Given the description of an element on the screen output the (x, y) to click on. 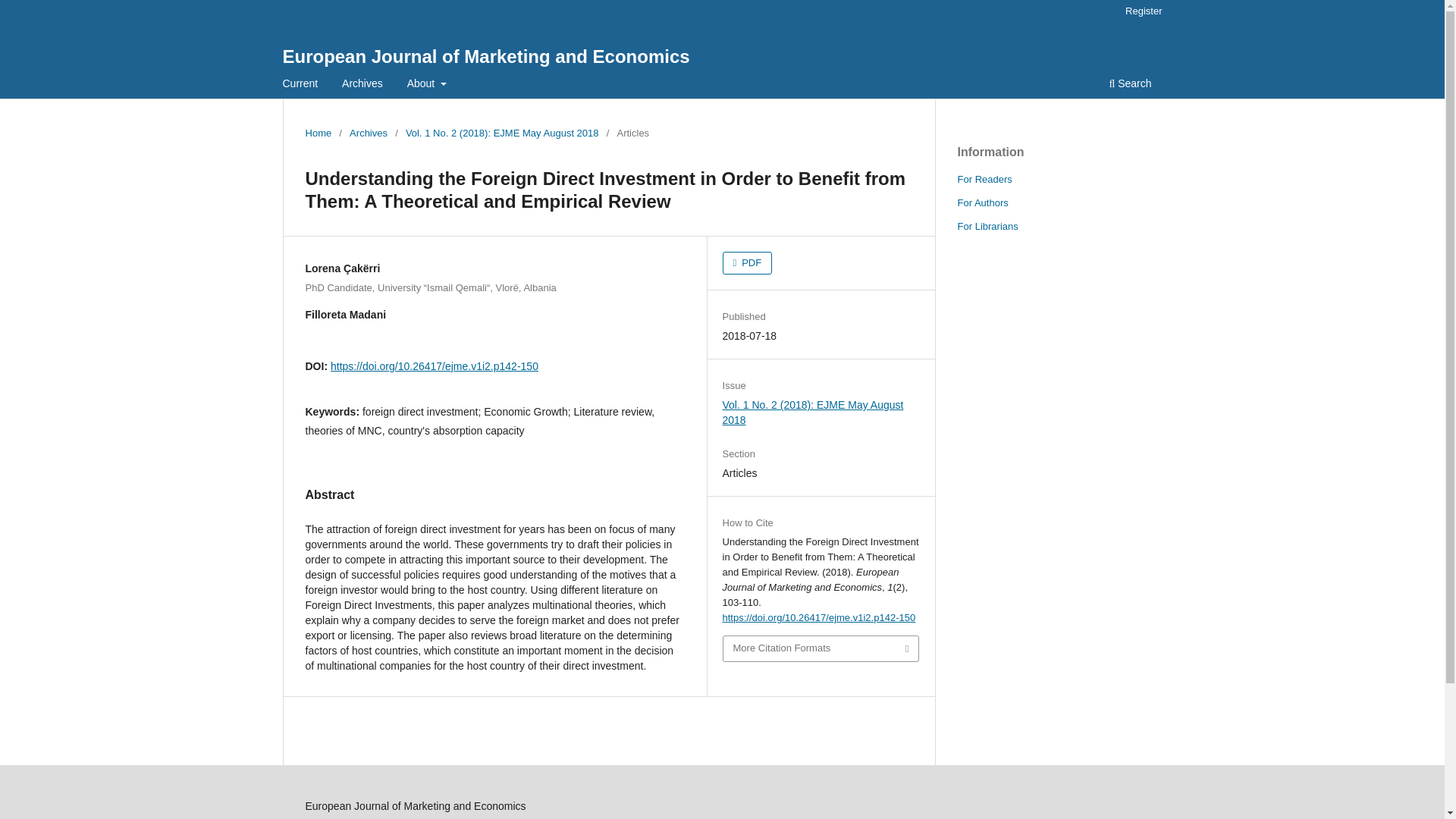
More Citation Formats (820, 648)
Archives (368, 133)
PDF (747, 262)
Current (300, 85)
European Journal of Marketing and Economics (485, 56)
About (426, 85)
Register (1143, 11)
Search (1129, 85)
Archives (362, 85)
Home (317, 133)
